Given the description of an element on the screen output the (x, y) to click on. 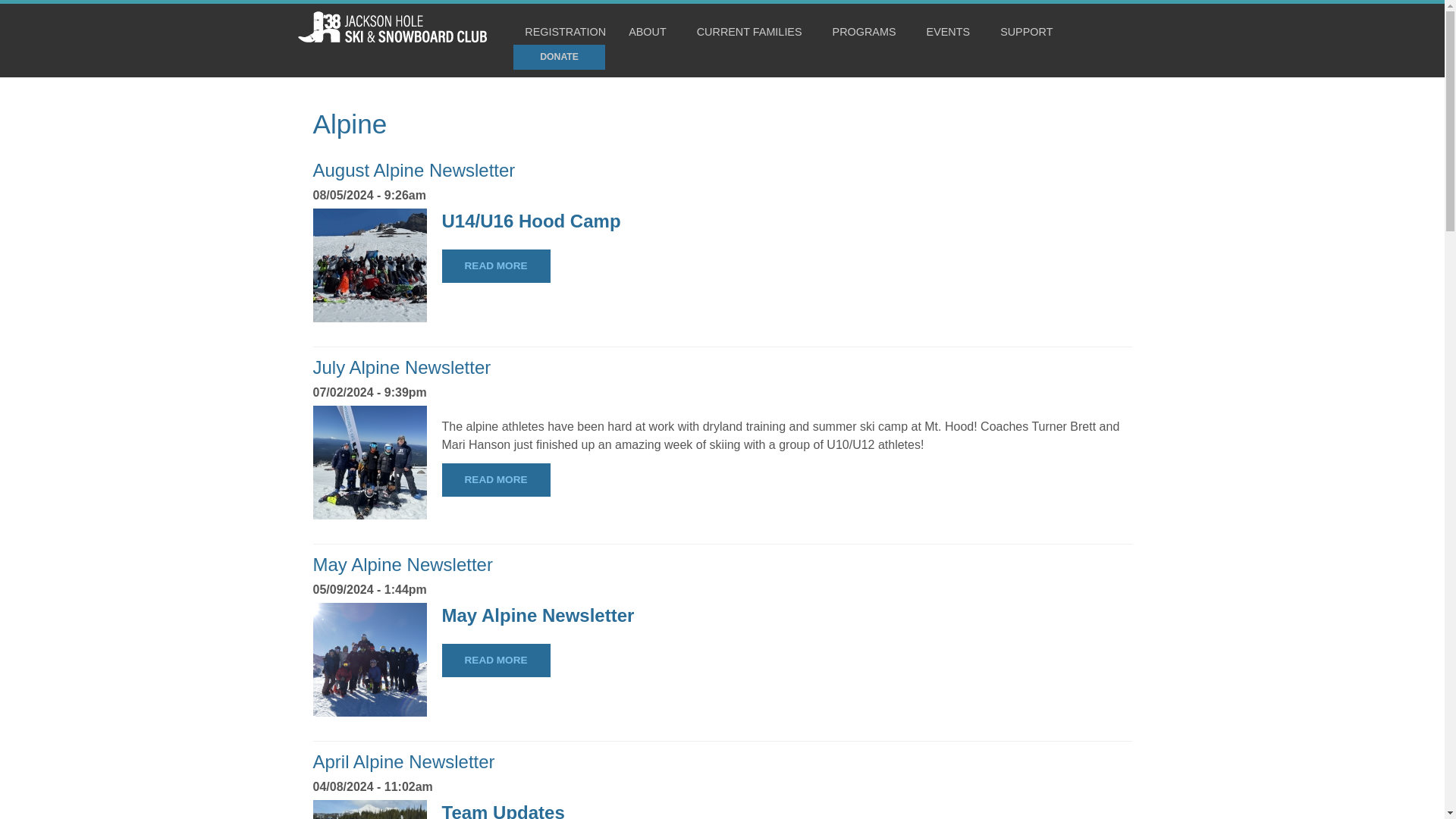
Home (391, 38)
CURRENT FAMILIES (753, 31)
PROGRAMS (868, 31)
REGISTRATION (565, 31)
ABOUT (651, 31)
